Given the description of an element on the screen output the (x, y) to click on. 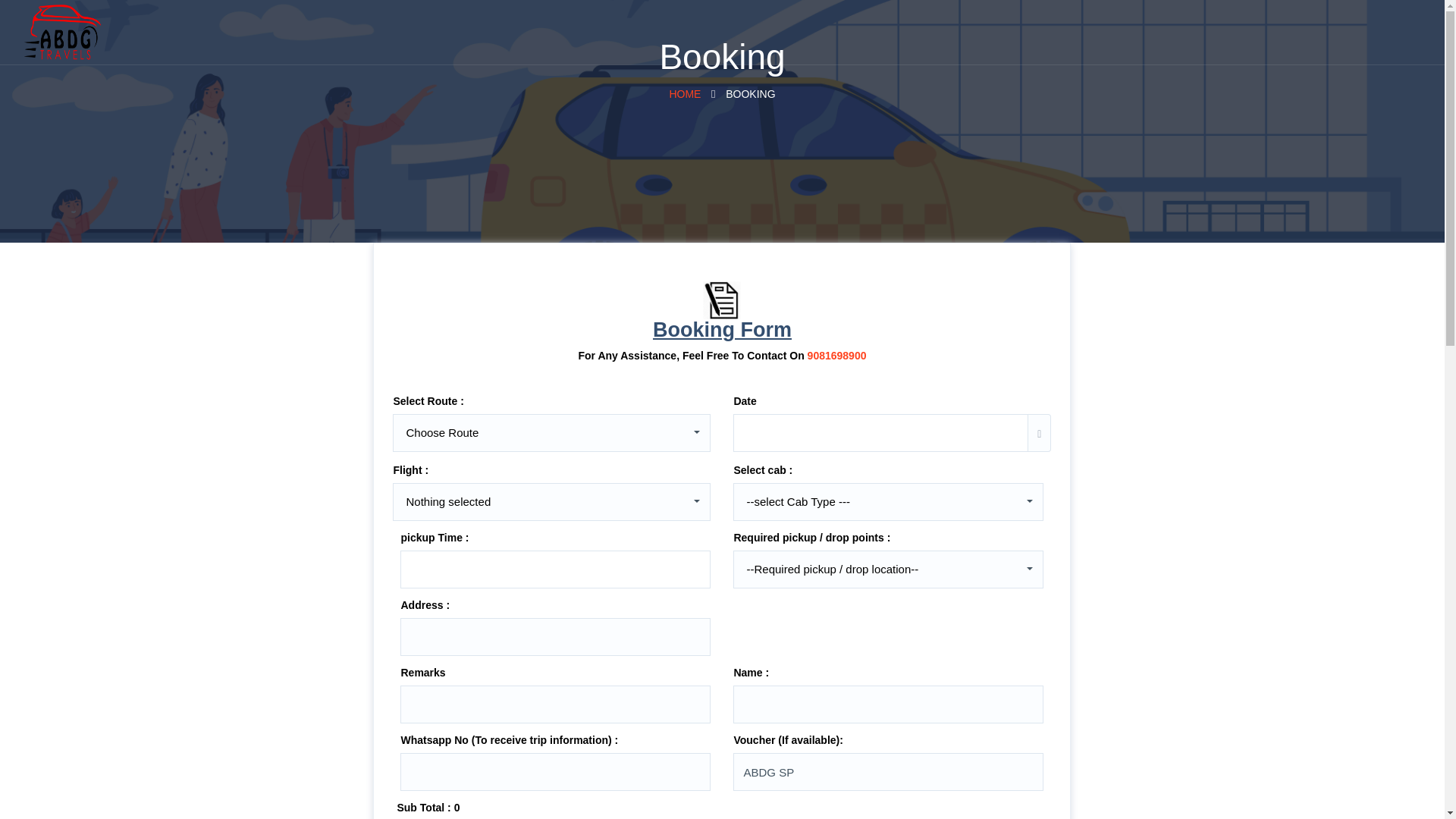
Nothing selected (551, 501)
9081698900 (837, 355)
ABDG SP (888, 771)
HOME (887, 501)
--select Cab Type --- (684, 93)
Choose Route (887, 501)
